Given the description of an element on the screen output the (x, y) to click on. 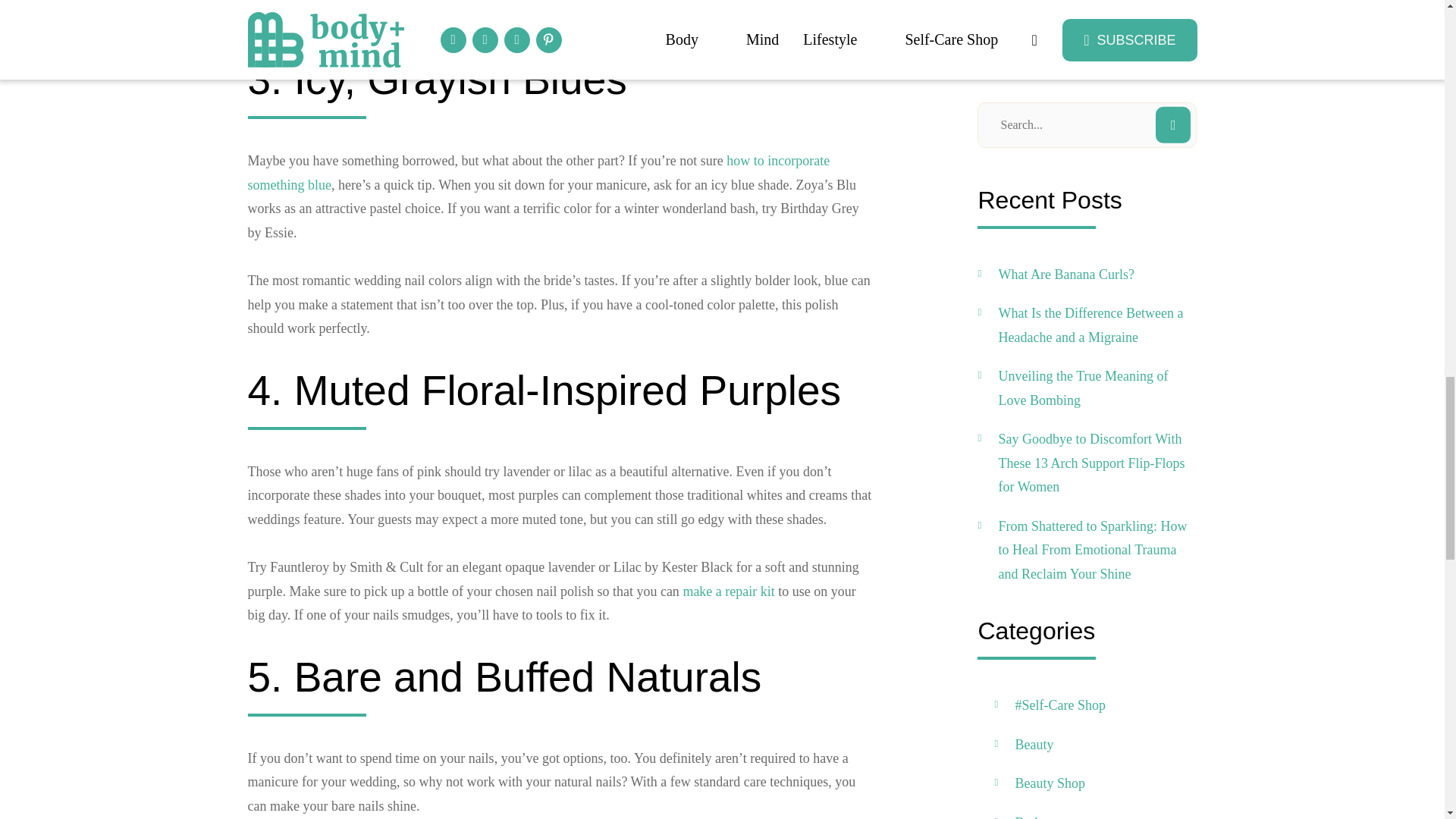
make a repair kit (728, 591)
how to incorporate something blue (538, 173)
choose a gel polish (611, 1)
